Given the description of an element on the screen output the (x, y) to click on. 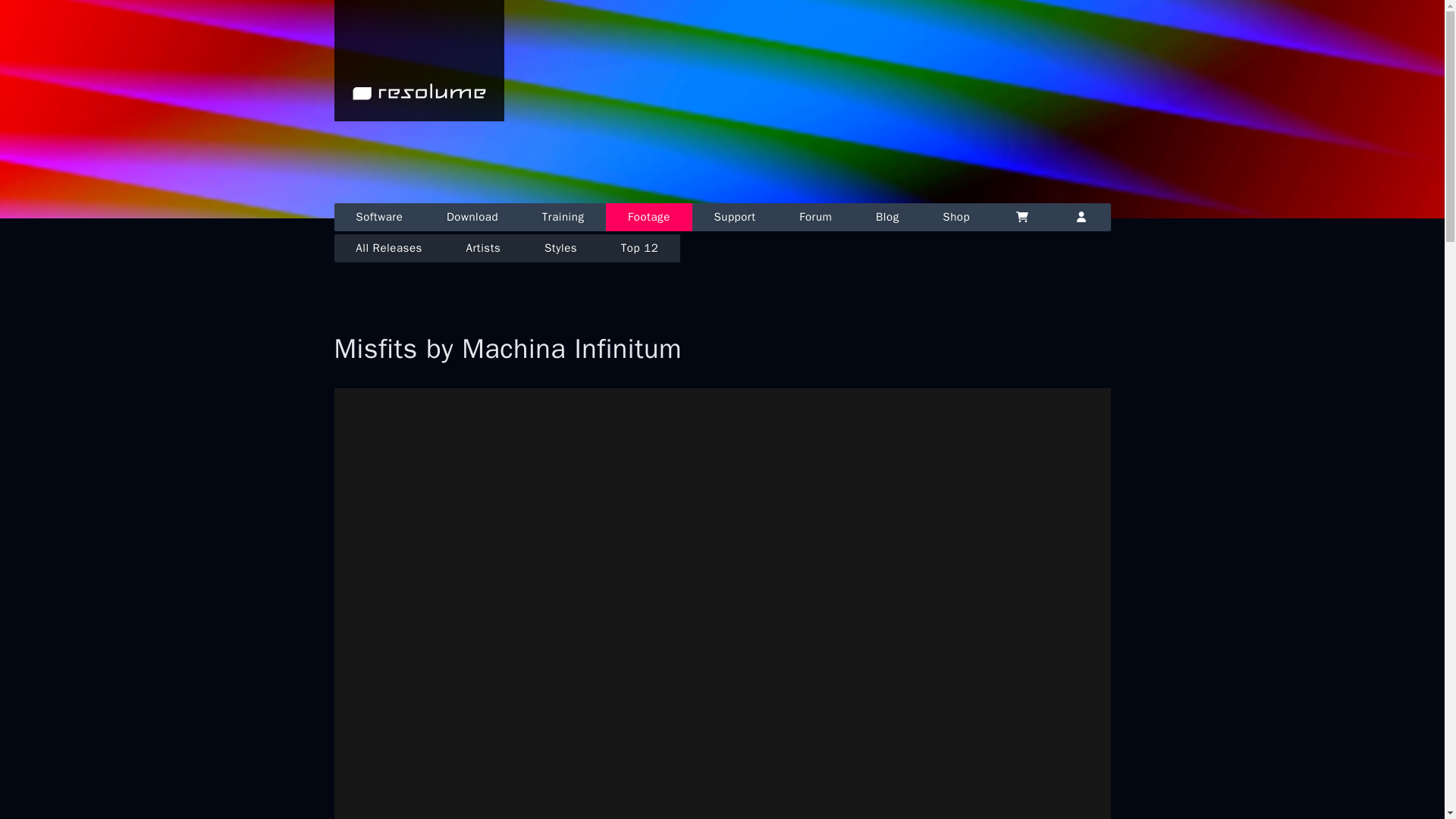
Training (562, 216)
Download (472, 216)
All Releases (388, 248)
Footage (648, 216)
Software (379, 216)
Top 12 (638, 248)
Account (1080, 216)
Styles (560, 248)
Artists (483, 248)
Support (735, 216)
